Given the description of an element on the screen output the (x, y) to click on. 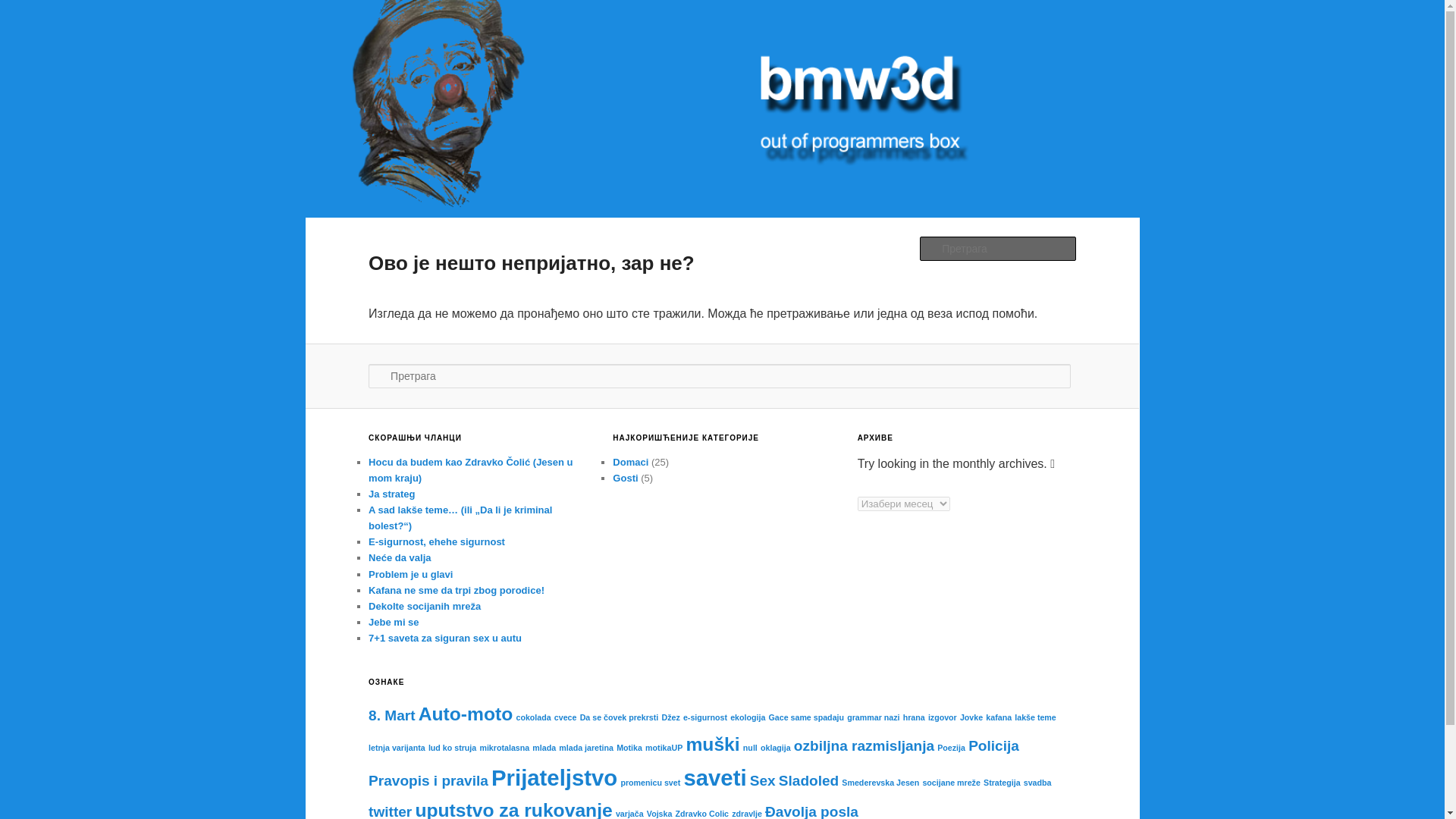
Gace same spadaju (806, 716)
Motika (628, 747)
Gosti (624, 478)
grammar nazi (873, 716)
Kafana ne sme da trpi zbog porodice! (456, 590)
Auto-moto (466, 713)
mlada (544, 747)
e-sigurnost (704, 716)
hrana (913, 716)
bmw3d.net (427, 57)
